Given the description of an element on the screen output the (x, y) to click on. 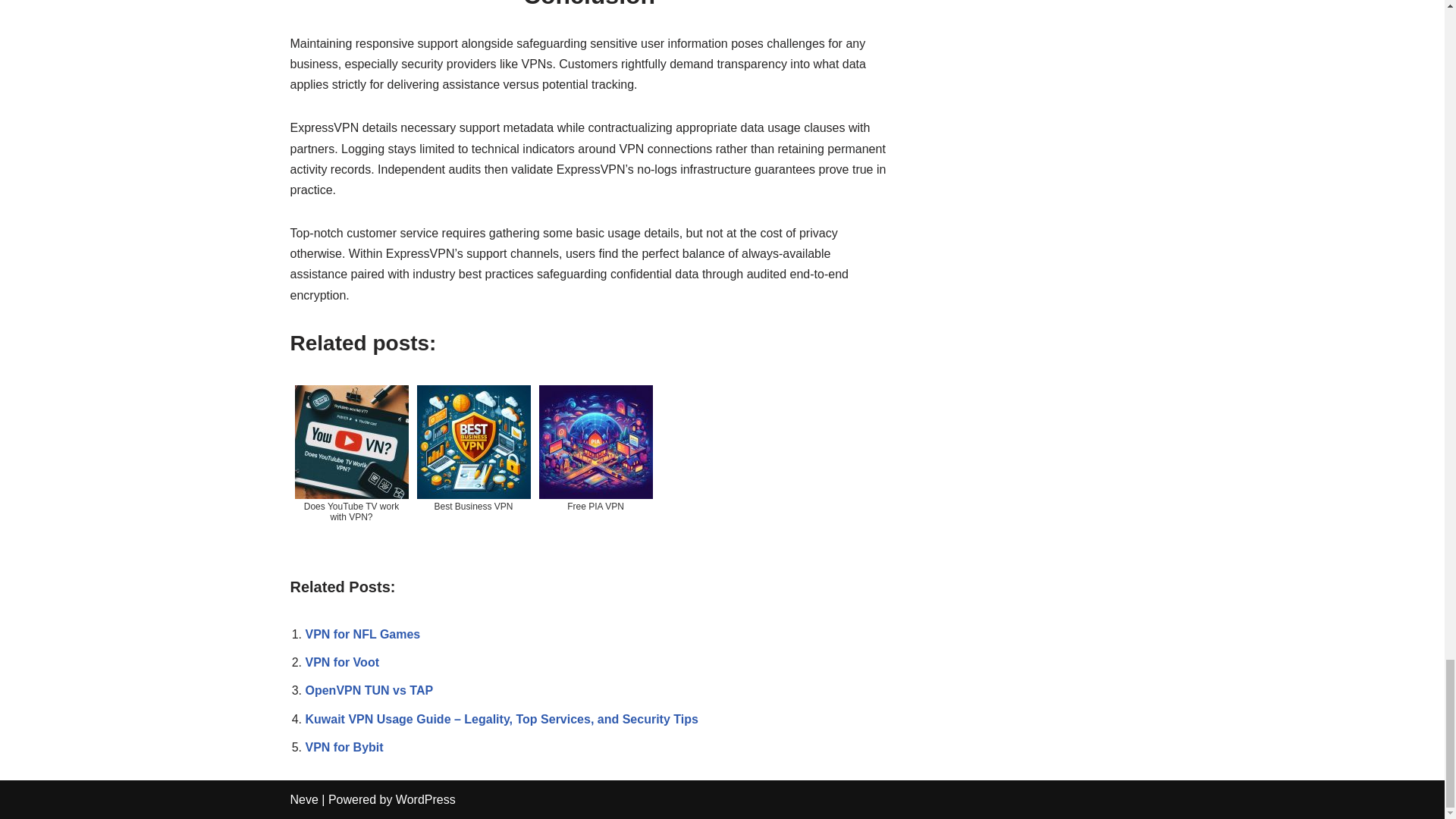
VPN for Bybit (343, 747)
VPN for Voot (341, 662)
VPN for NFL Games (362, 634)
OpenVPN TUN vs TAP (368, 689)
